Given the description of an element on the screen output the (x, y) to click on. 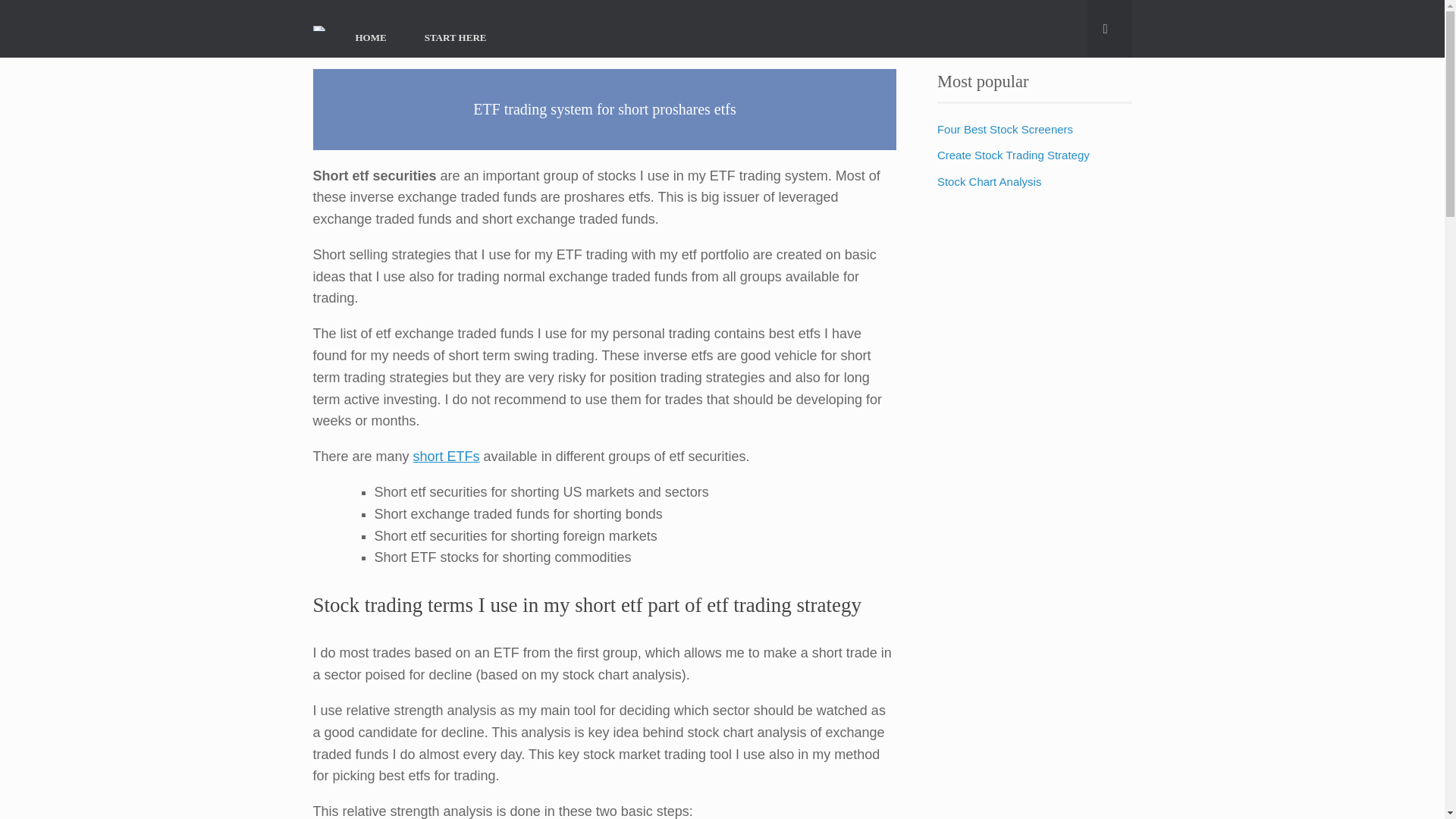
Four Best Stock Screeners (1005, 128)
Create Stock Trading Strategy (1013, 154)
HOME (371, 36)
short ETFs (446, 456)
START HERE (455, 36)
Stock Chart Analysis (989, 181)
